Given the description of an element on the screen output the (x, y) to click on. 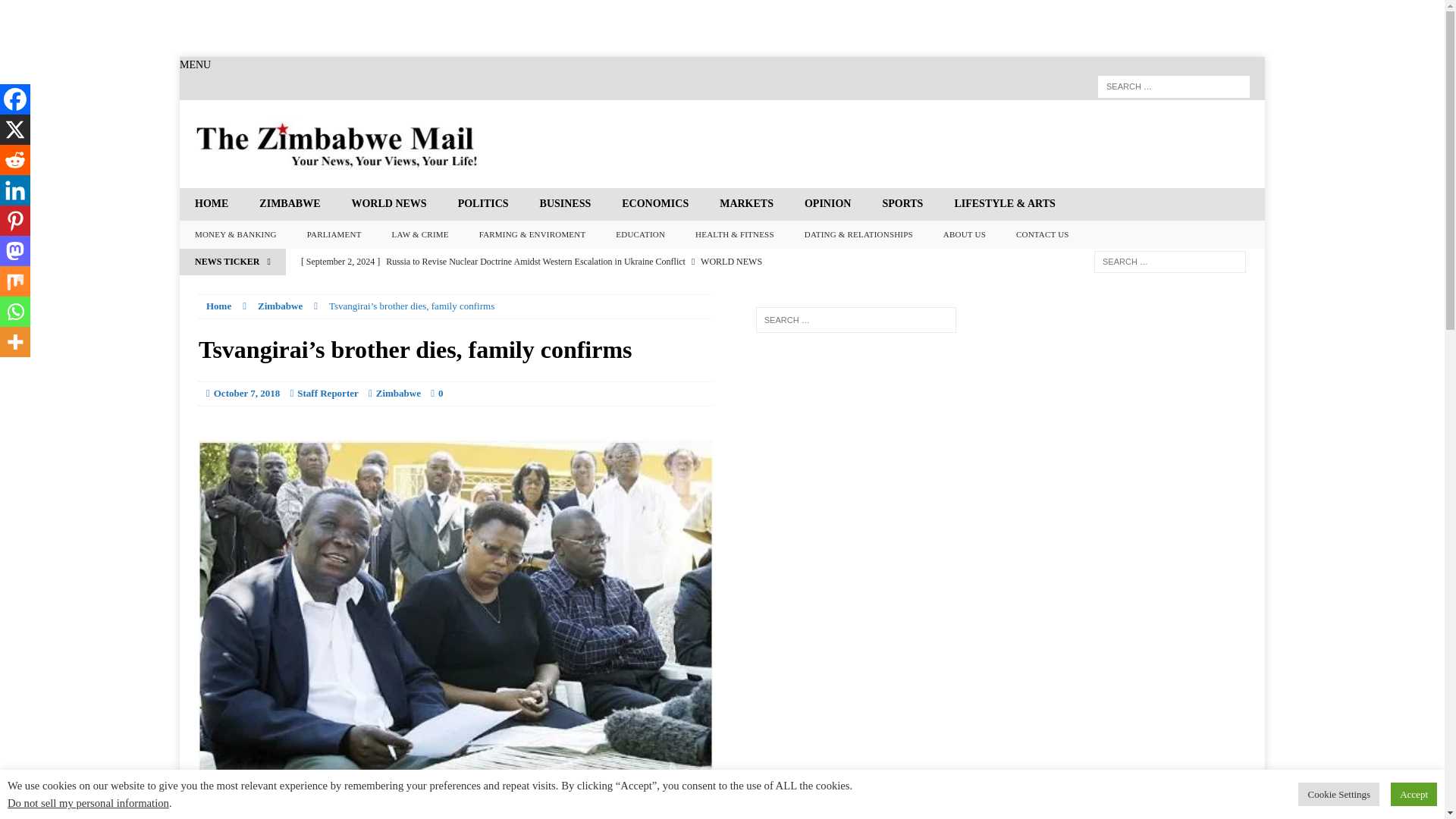
SPORTS (901, 204)
Zimbabwe (279, 306)
OPINION (827, 204)
The Zimbabwe Mail (722, 143)
MARKETS (746, 204)
BUSINESS (565, 204)
ZIMBABWE (288, 204)
CONTACT US (1042, 234)
WORLD NEWS (387, 204)
